Given the description of an element on the screen output the (x, y) to click on. 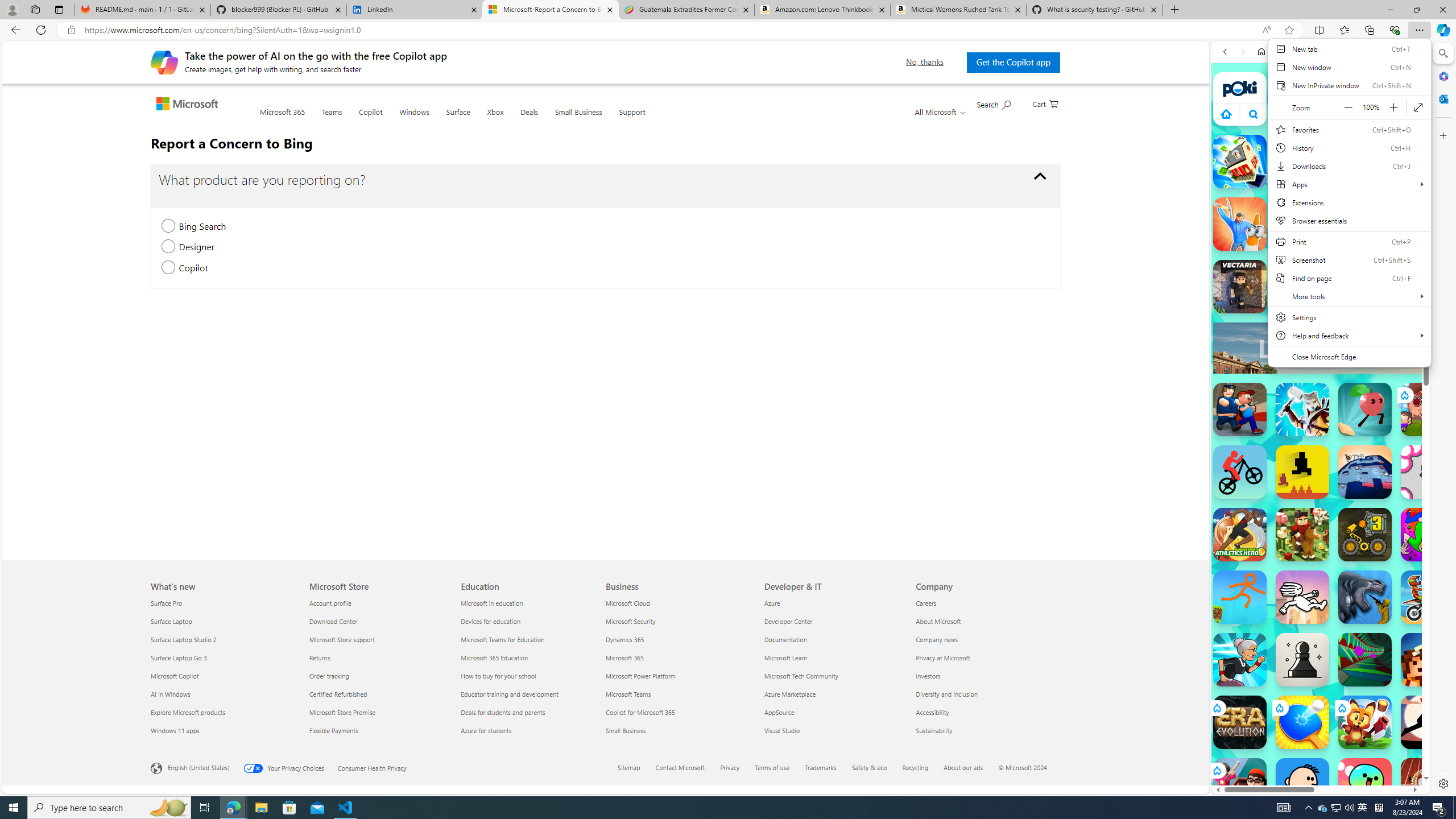
Developer Center (833, 620)
Up Together (1364, 409)
Investors Company (927, 675)
Close Microsoft Edge (1349, 356)
Azure (833, 602)
Visual Studio (833, 730)
100 Metres Race (1427, 784)
Surface Laptop (223, 620)
Apple Knight: Farmers Market Apple Knight: Farmers Market (1302, 534)
Two Player Games (1320, 323)
